Given the description of an element on the screen output the (x, y) to click on. 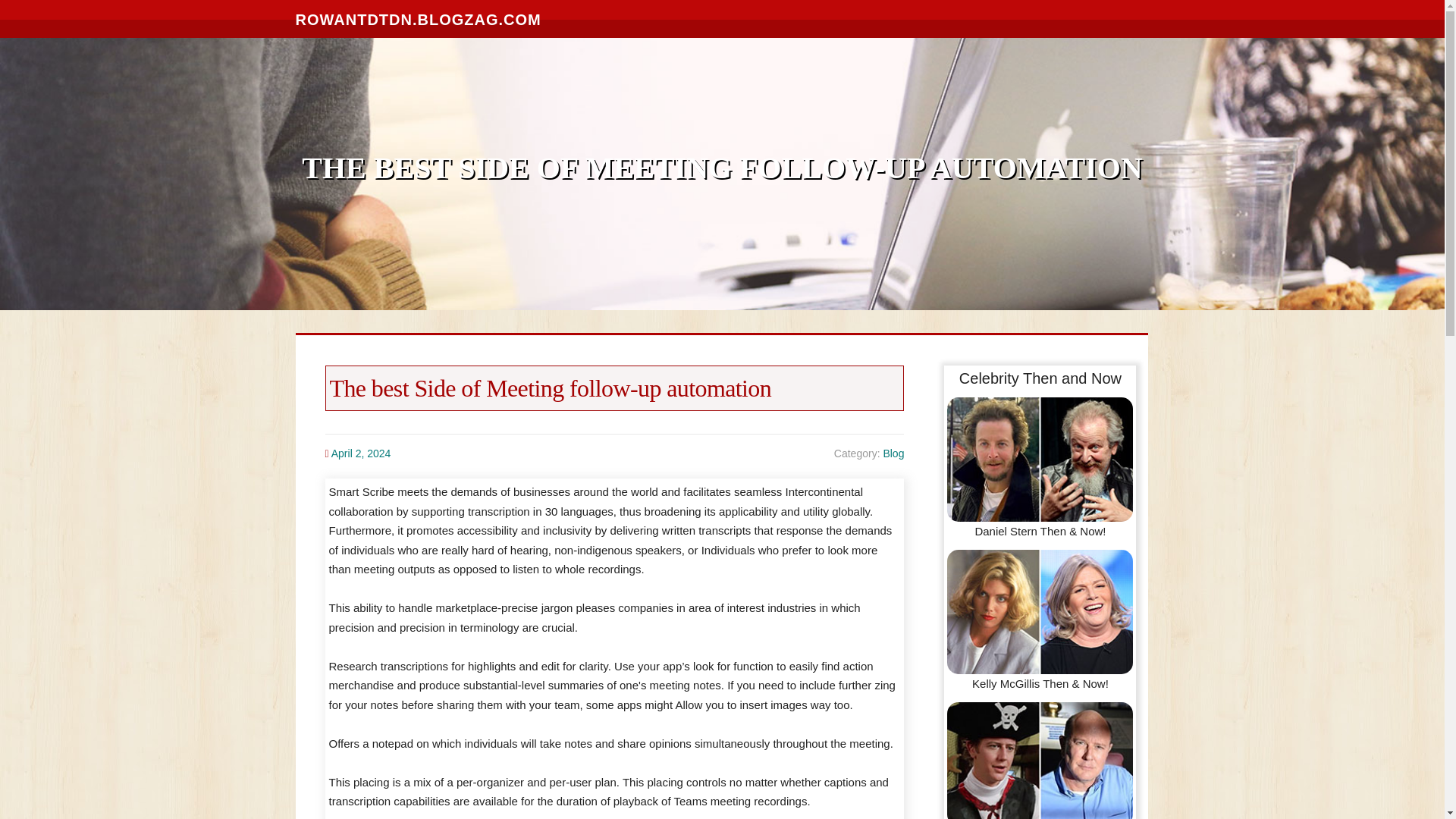
ROWANTDTDN.BLOGZAG.COM (418, 18)
April 2, 2024 (361, 453)
Skip to content (37, 9)
Blog (893, 453)
